Given the description of an element on the screen output the (x, y) to click on. 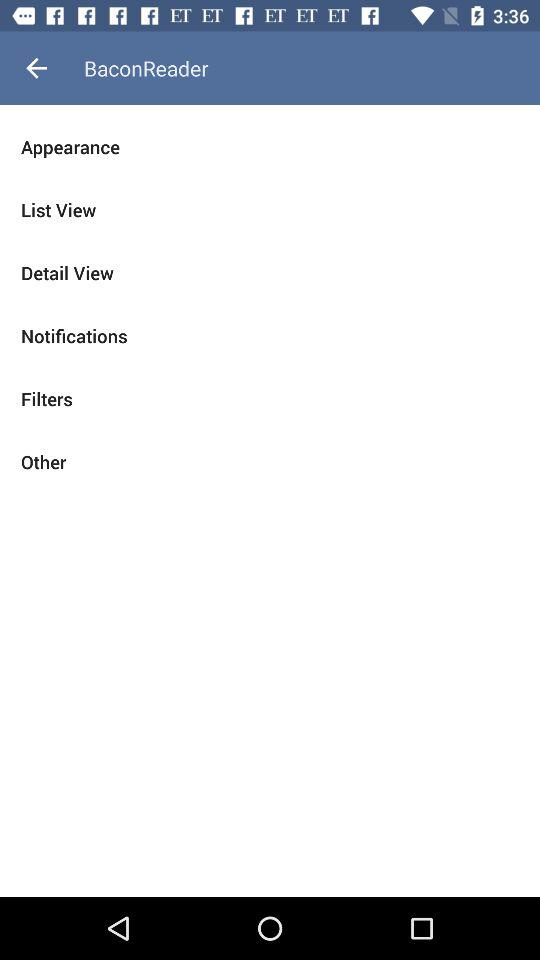
launch the item above detail view icon (270, 209)
